Given the description of an element on the screen output the (x, y) to click on. 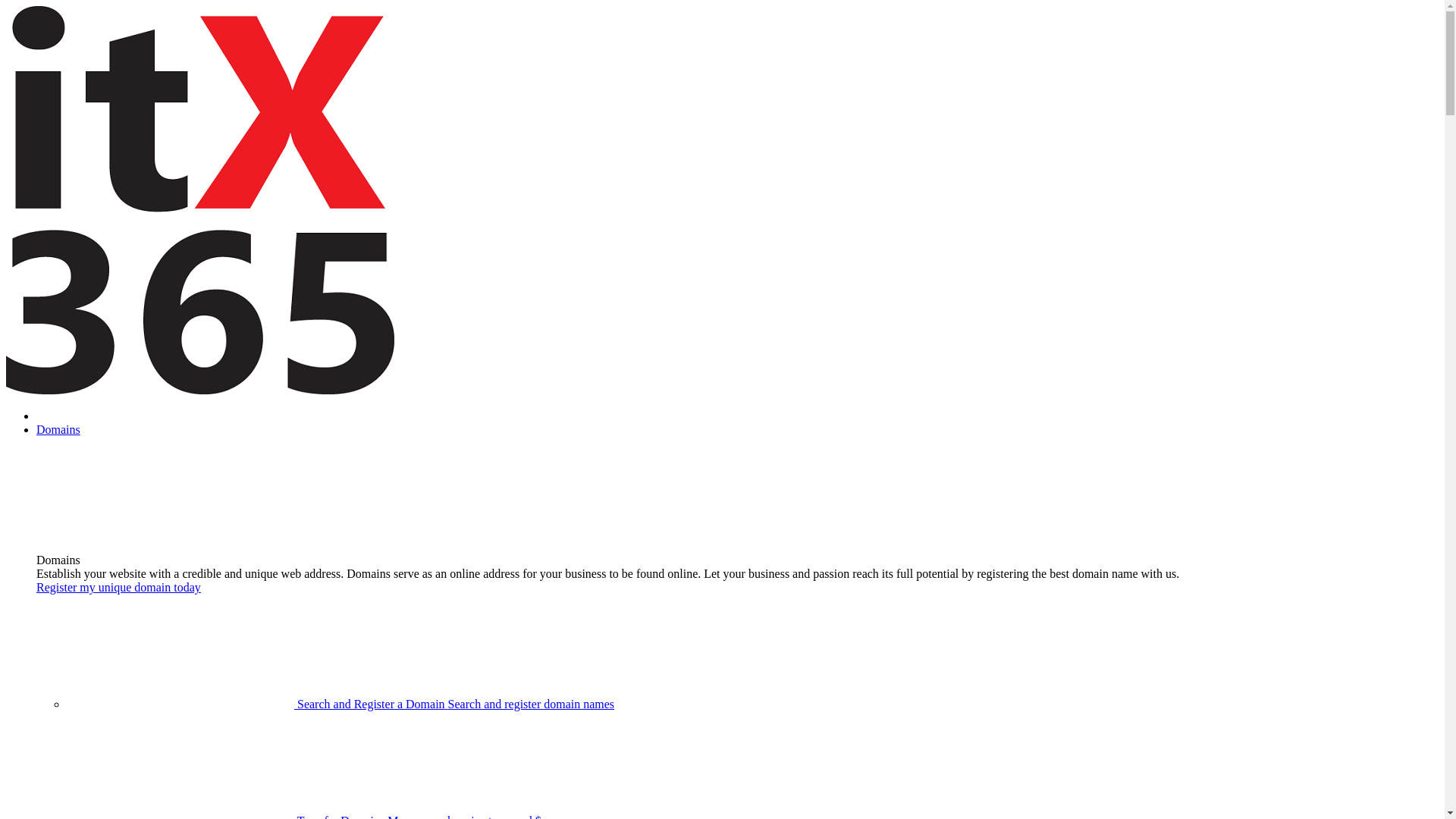
Register my unique domain today Element type: text (118, 586)
Domains Element type: text (58, 429)
